Given the description of an element on the screen output the (x, y) to click on. 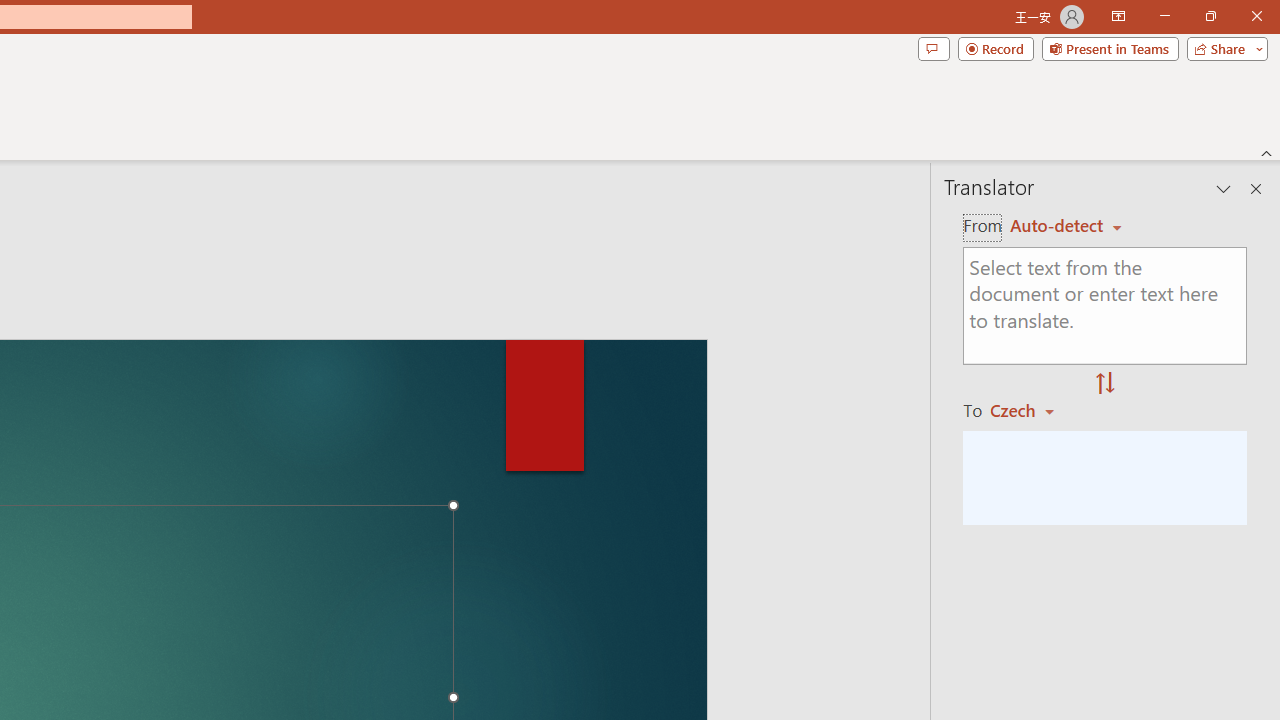
Auto-detect (1066, 225)
Czech (1030, 409)
